Given the description of an element on the screen output the (x, y) to click on. 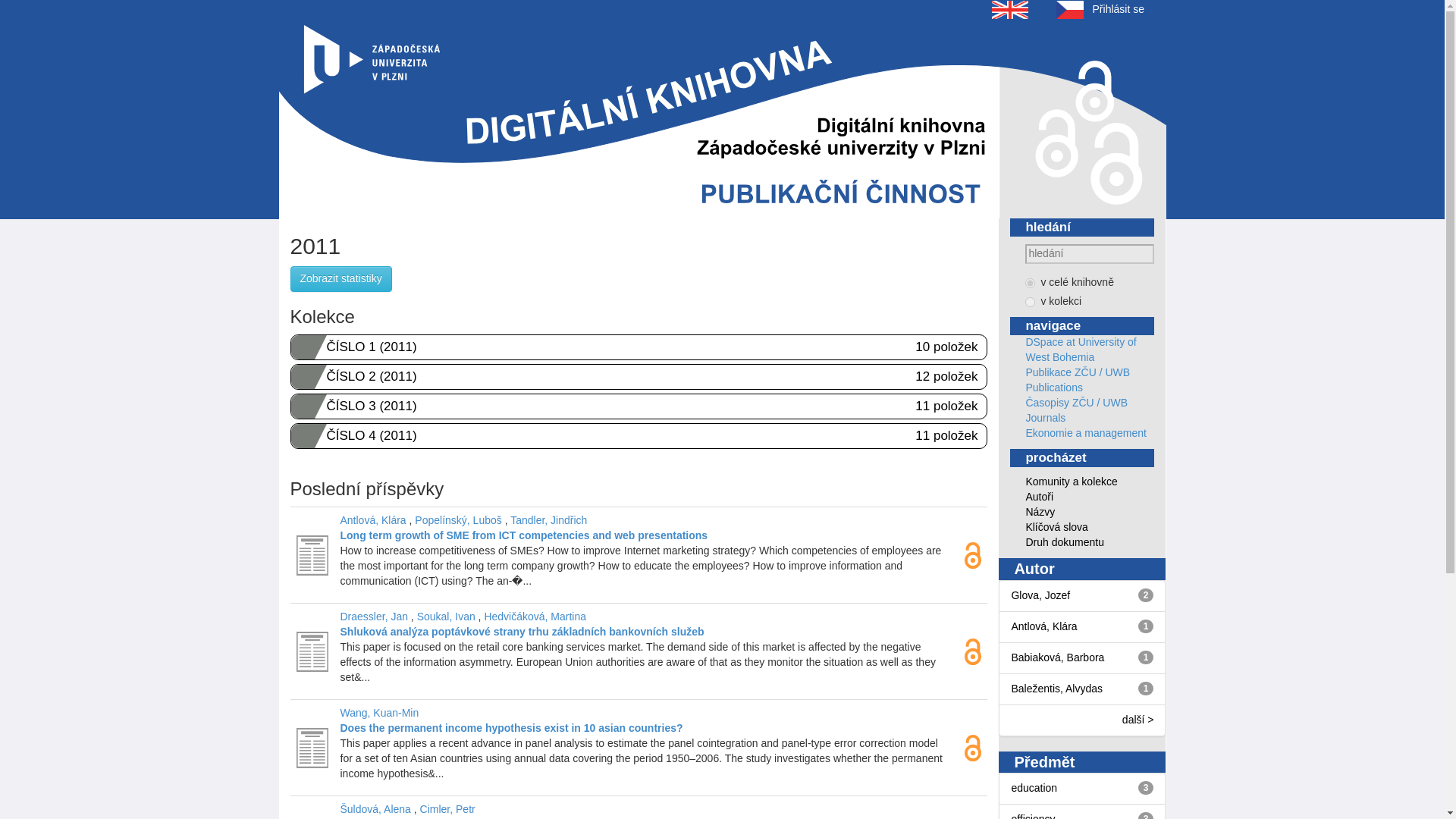
DSpace at University of West Bohemia (1080, 349)
option2 (1030, 302)
Druh dokumentu (1064, 541)
Soukal, Ivan (446, 616)
option1 (1030, 283)
Cimler, Petr (448, 808)
Glova, Jozef (1040, 594)
Filtrovat dle education (1033, 787)
Zobrazit statistiky (340, 278)
Komunity a kolekce (1070, 481)
Draessler, Jan (373, 616)
Filtrovat dle Glova, Jozef (1040, 594)
